Given the description of an element on the screen output the (x, y) to click on. 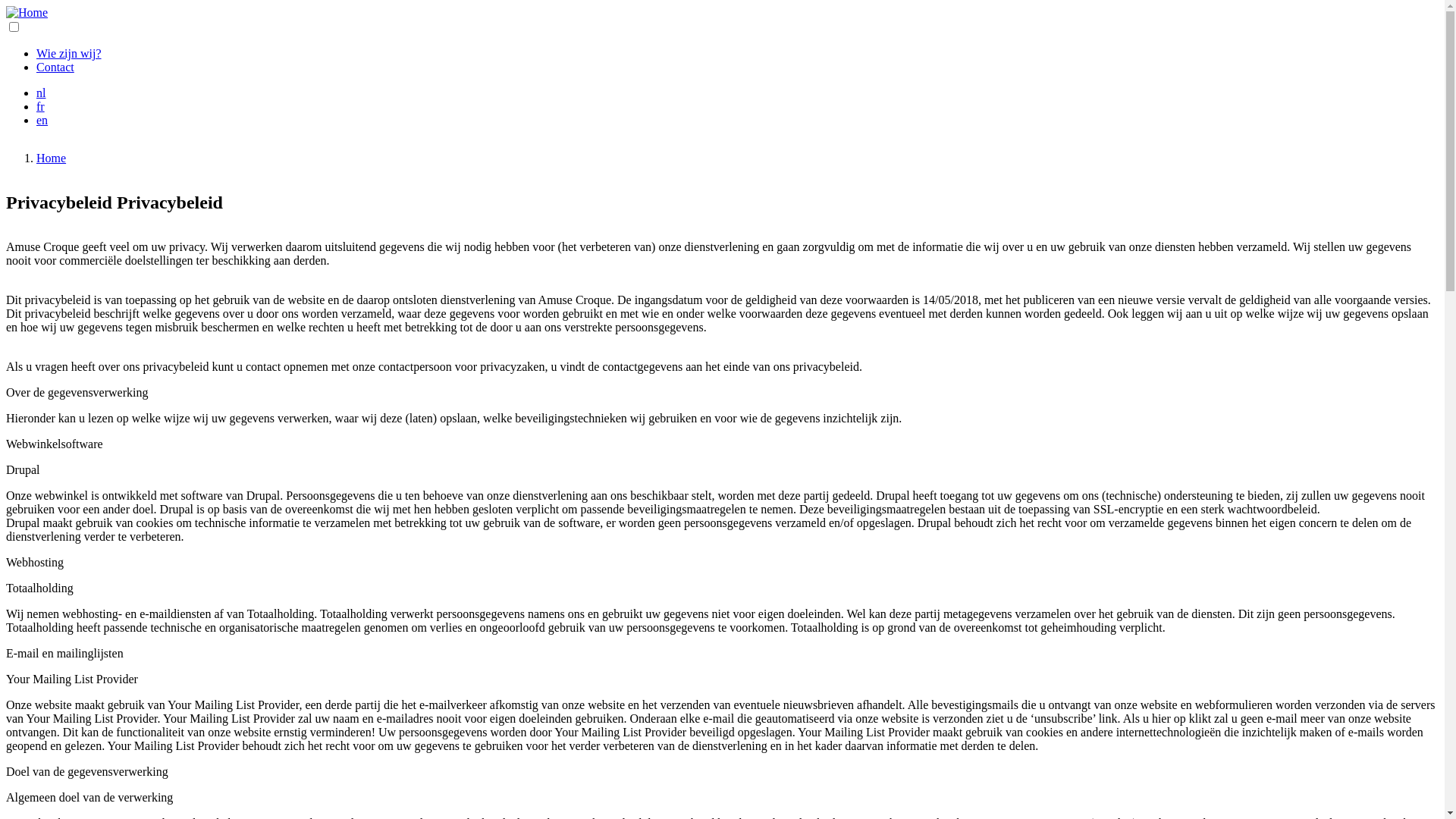
Contact Element type: text (55, 66)
Overslaan en naar de inhoud gaan Element type: text (6, 6)
fr Element type: text (40, 106)
Wie zijn wij? Element type: text (68, 53)
nl Element type: text (40, 92)
Home Element type: text (50, 157)
en Element type: text (41, 119)
